Given the description of an element on the screen output the (x, y) to click on. 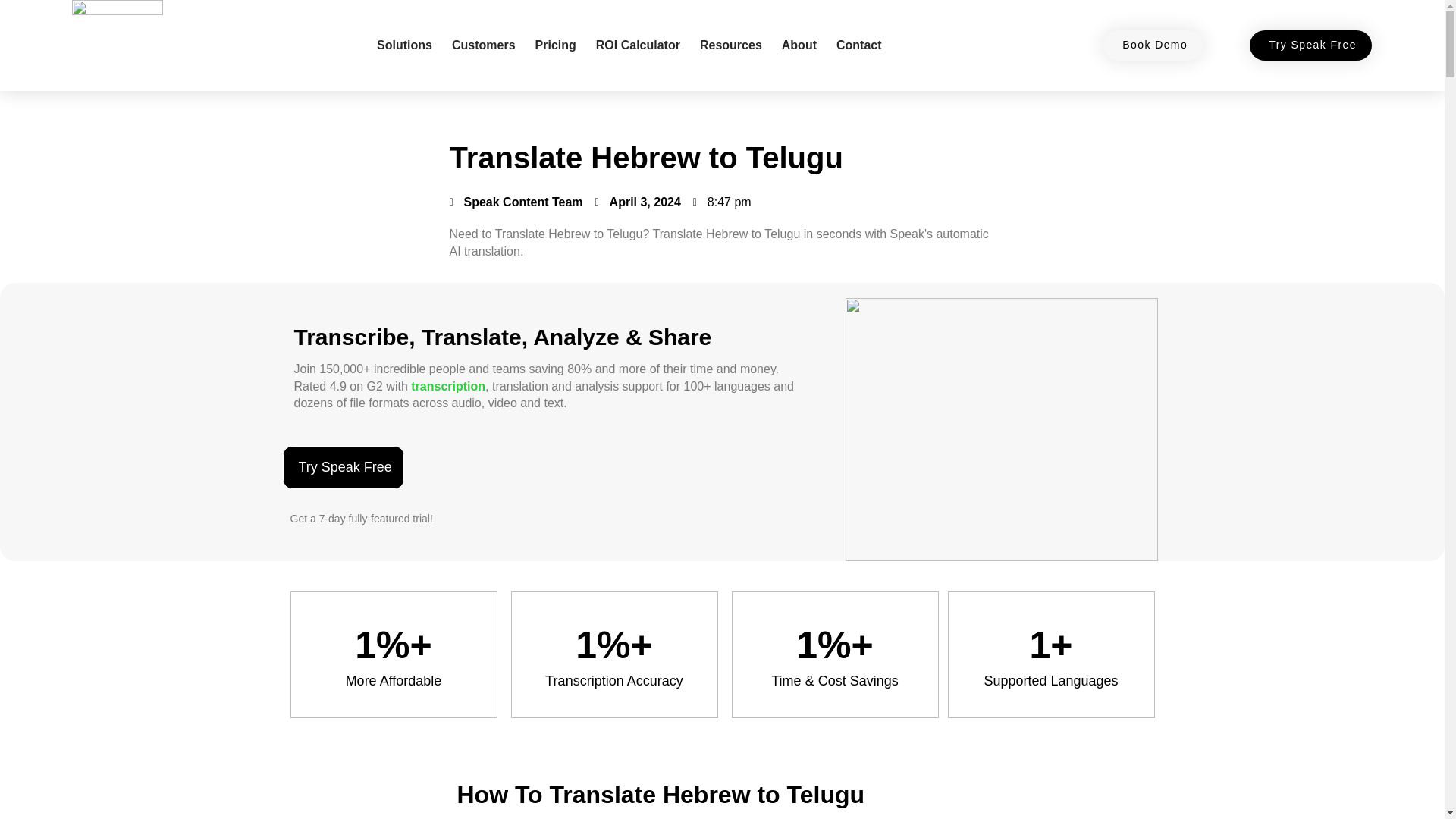
Customers (483, 45)
ROI Calculator (637, 45)
Contact (858, 45)
About (799, 45)
Solutions (404, 45)
Resources (731, 45)
Pricing (555, 45)
